Given the description of an element on the screen output the (x, y) to click on. 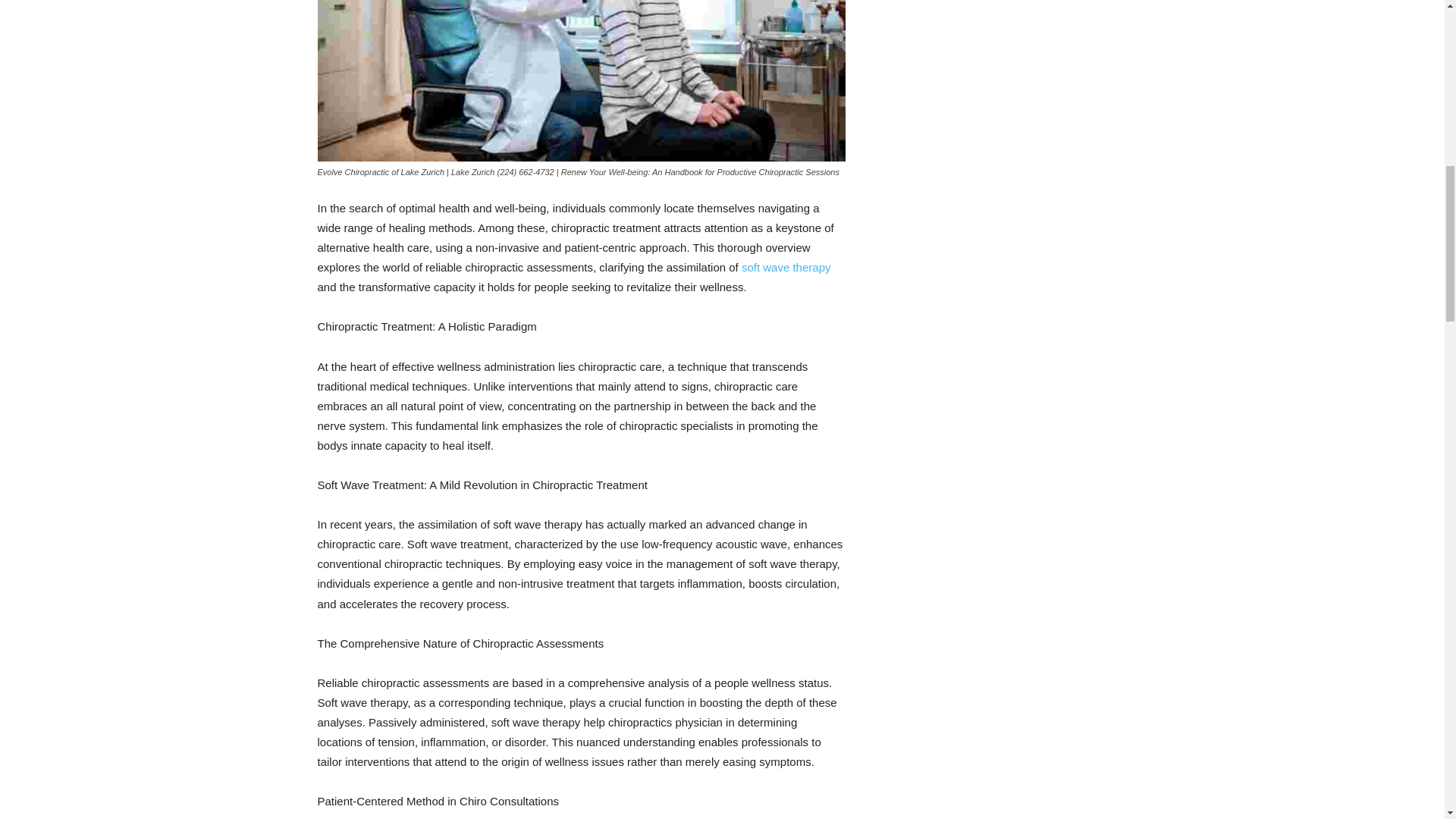
soft wave therapy (786, 267)
